Given the description of an element on the screen output the (x, y) to click on. 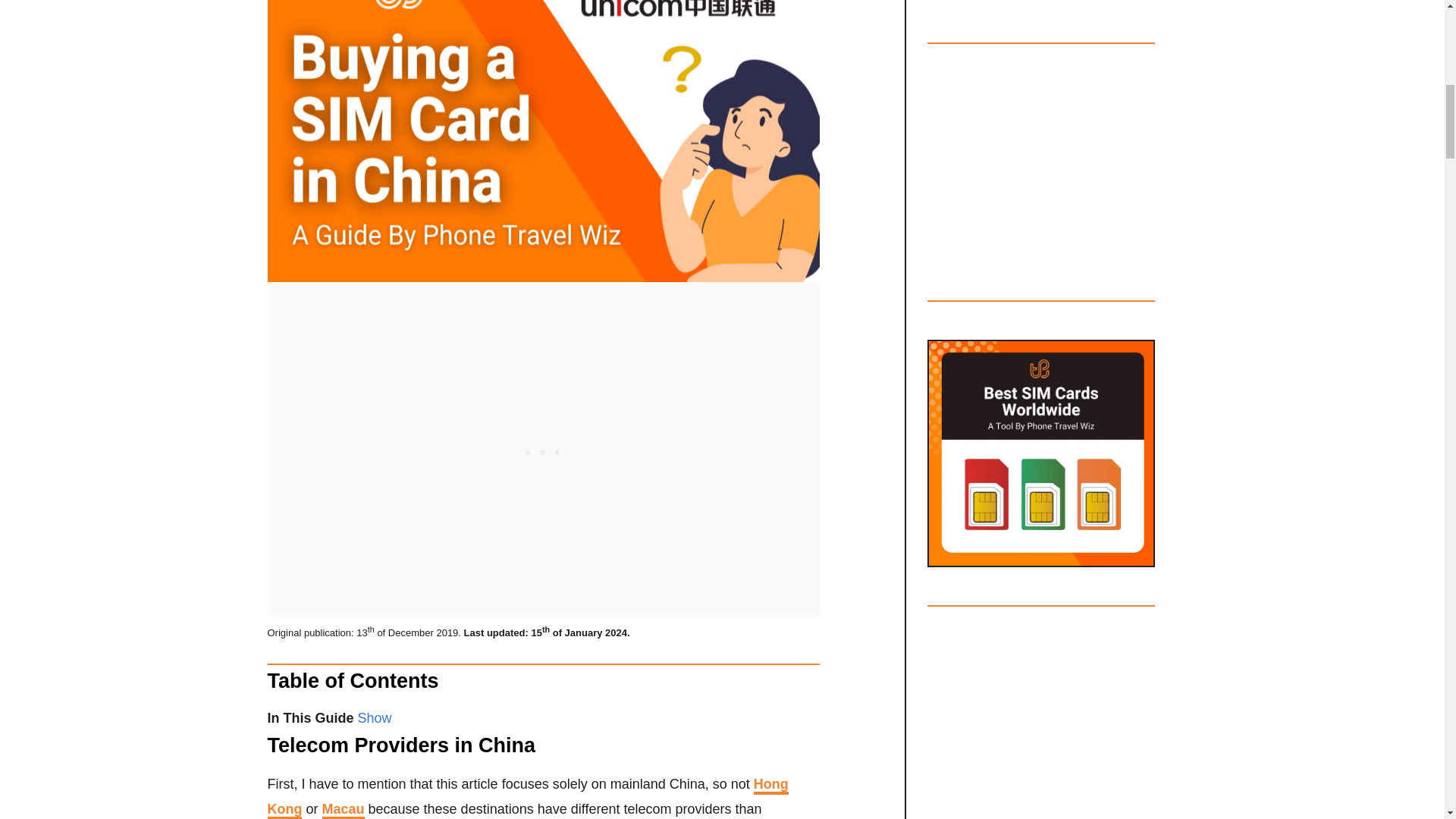
Macau (342, 810)
Show (374, 717)
Hong Kong (526, 797)
